Given the description of an element on the screen output the (x, y) to click on. 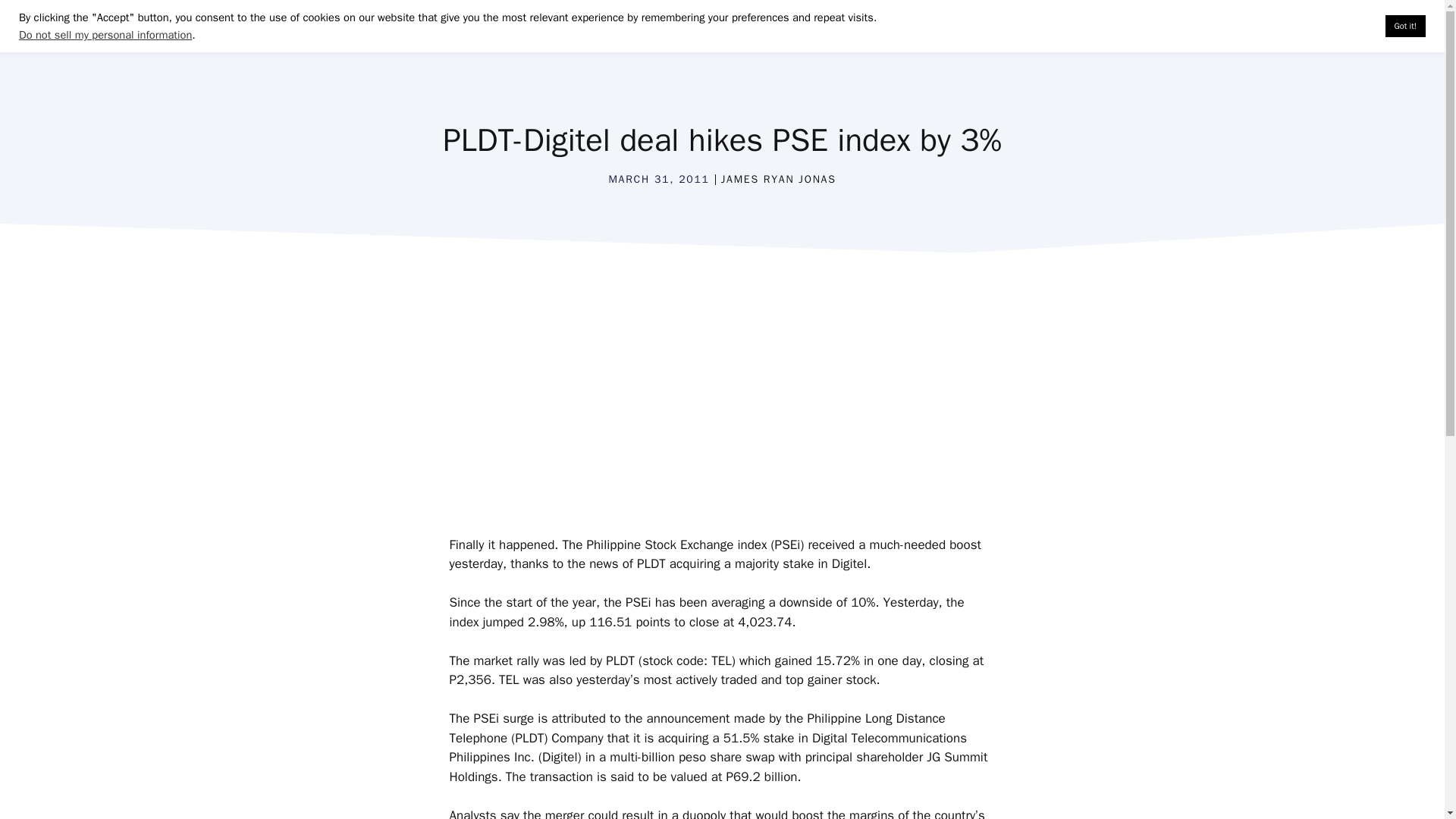
Advertisement (729, 403)
Home (668, 37)
Investing 101 (861, 37)
Cookie settings (1335, 26)
Stock Tips (1102, 37)
Got it! (1405, 25)
Stock Trading (754, 37)
Do not sell my personal information (105, 34)
Follow on Facebook (986, 37)
